Given the description of an element on the screen output the (x, y) to click on. 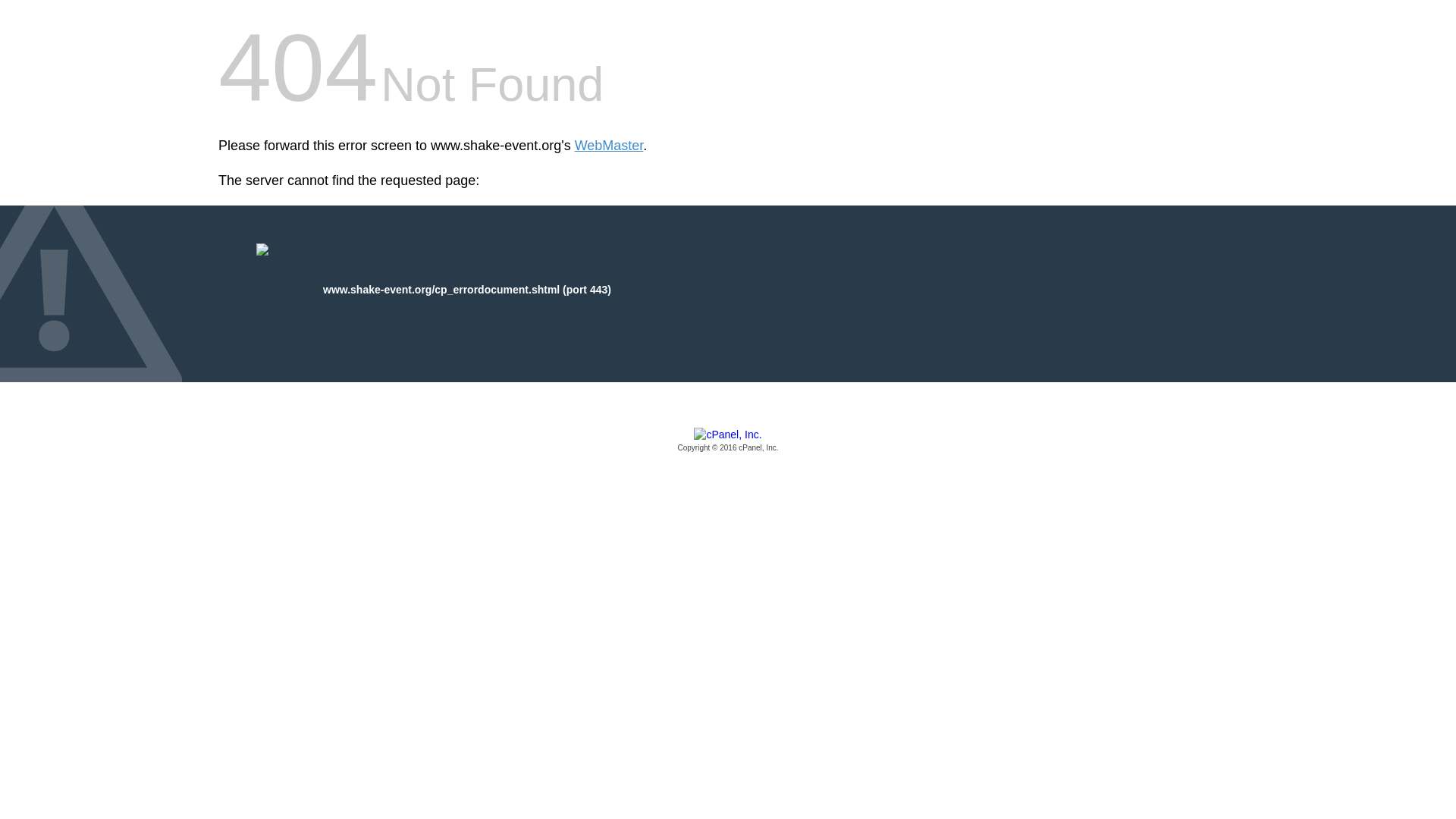
WebMaster (609, 145)
cPanel, Inc. (727, 440)
